Given the description of an element on the screen output the (x, y) to click on. 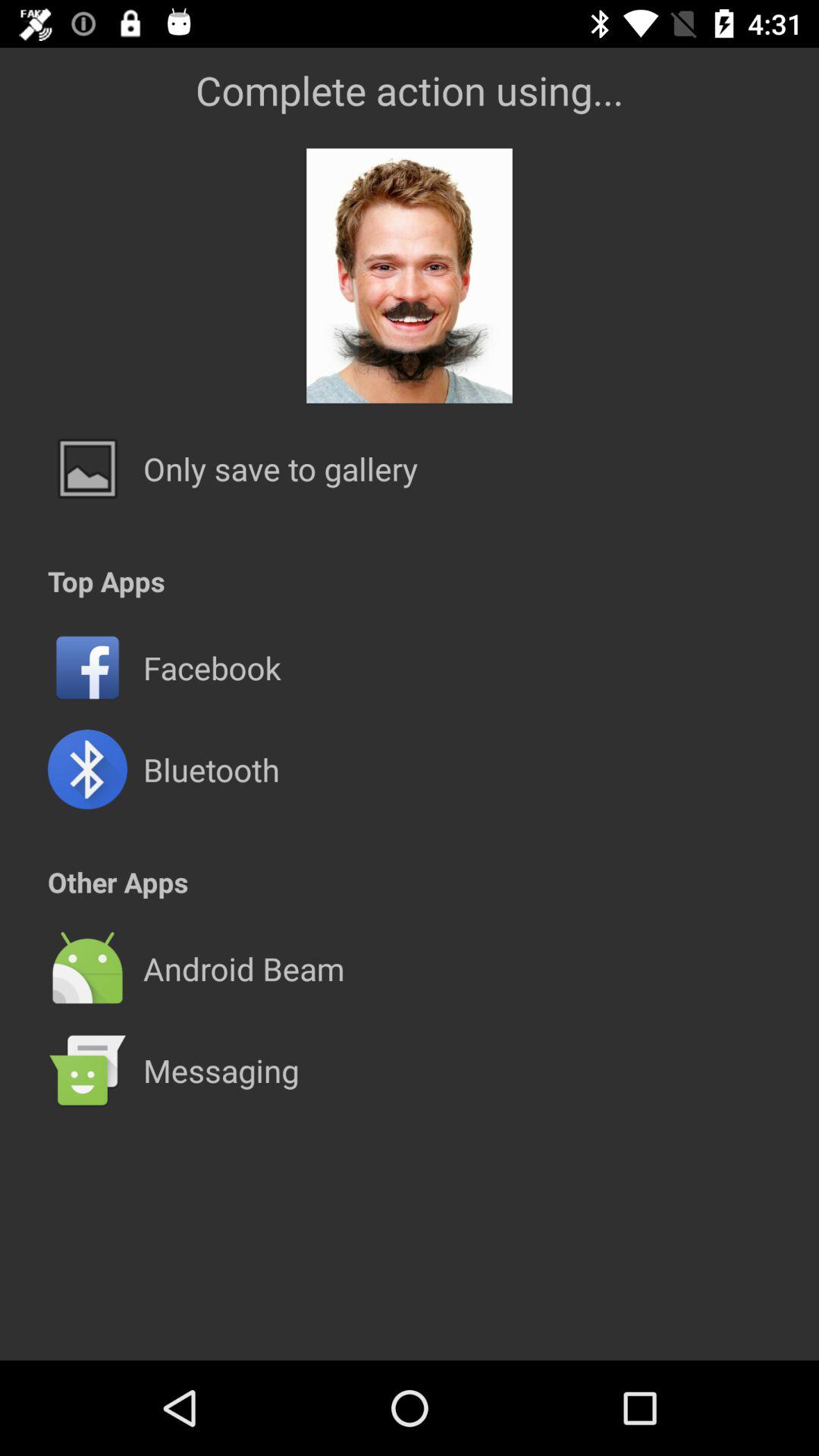
tap the icon above the top apps app (280, 468)
